Given the description of an element on the screen output the (x, y) to click on. 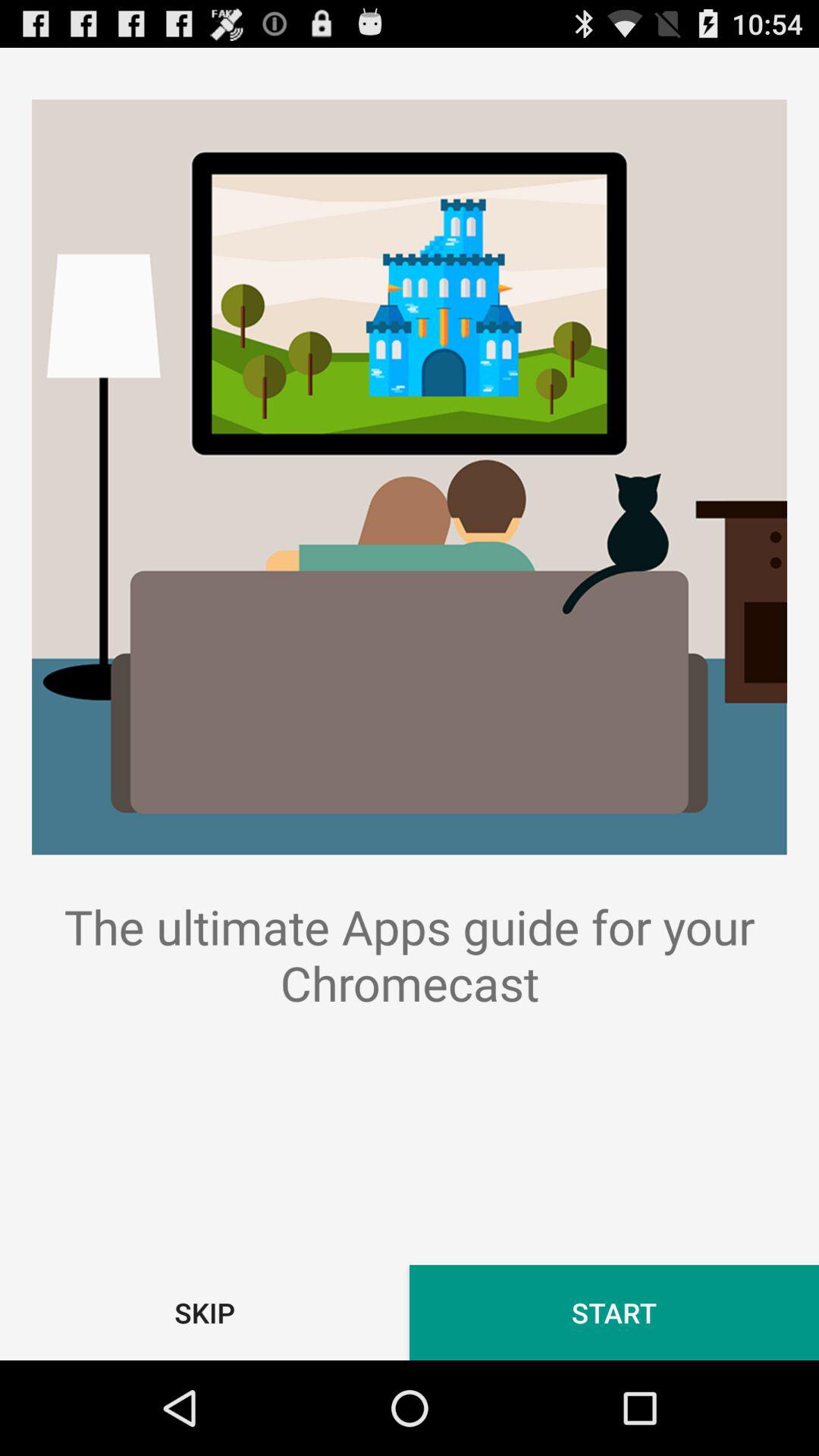
press the button next to the skip button (614, 1312)
